Given the description of an element on the screen output the (x, y) to click on. 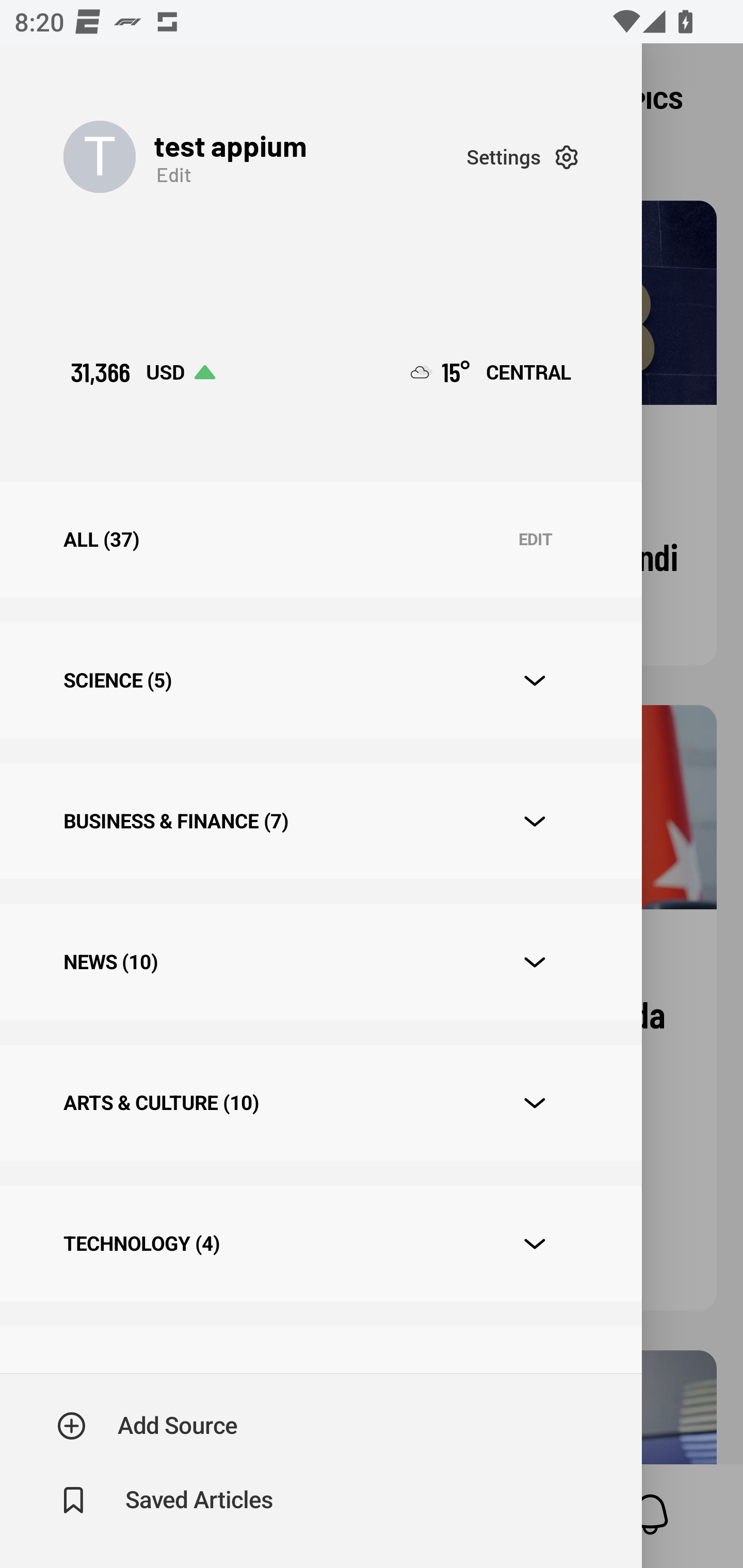
T test appium Edit (264, 156)
Settings Select News Style (522, 156)
31,366 USD Current State of the Currency (142, 372)
Current State of the Weather 15° CENTRAL (490, 372)
ALL  (37) EDIT (320, 539)
EDIT (534, 540)
SCIENCE  (5) Expand Button (320, 680)
Expand Button (534, 681)
BUSINESS & FINANCE  (7) Expand Button (320, 821)
Expand Button (534, 821)
NEWS  (10) Expand Button (320, 961)
Expand Button (534, 961)
ARTS & CULTURE  (10) Expand Button (320, 1102)
Expand Button (534, 1102)
TECHNOLOGY  (4) Expand Button (320, 1243)
Expand Button (534, 1244)
Open Content Store Add Source (147, 1425)
Open Saved News  Saved Articles (166, 1500)
